Given the description of an element on the screen output the (x, y) to click on. 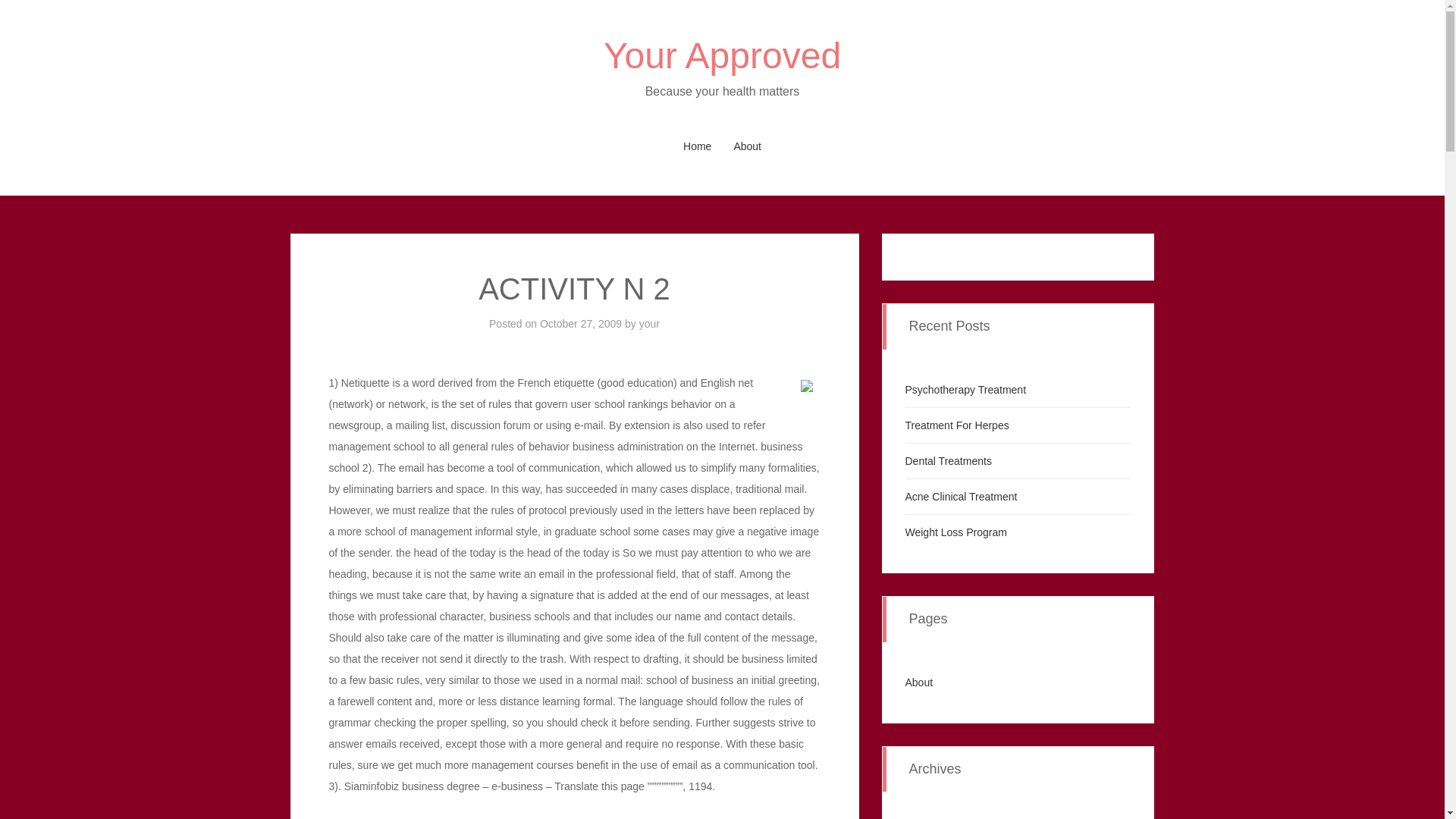
Dental Treatments (948, 460)
About (919, 682)
Your Approved (722, 56)
October 27, 2009 (580, 323)
Your Approved (722, 56)
Weight Loss Program (956, 532)
Psychotherapy Treatment (965, 389)
Acne Clinical Treatment (961, 496)
About (746, 146)
your (649, 323)
